Given the description of an element on the screen output the (x, y) to click on. 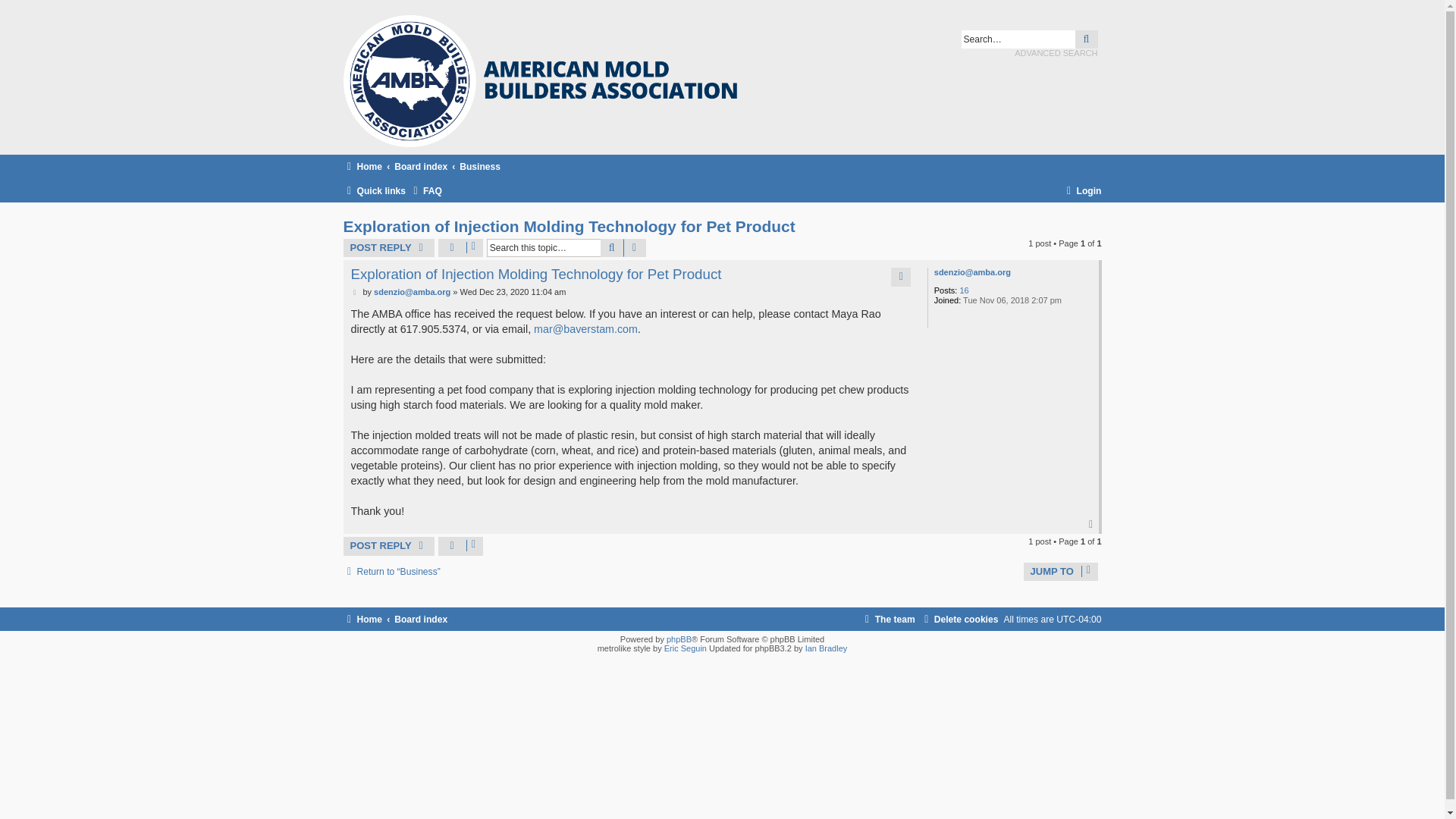
Post (354, 292)
Reply with quote (901, 276)
Quick links (374, 190)
QUOTE (901, 276)
Home (361, 167)
Login (1082, 190)
Login (1082, 190)
POST REPLY (387, 546)
Advanced search (634, 248)
Post a reply (387, 248)
Board index (420, 619)
Search (1086, 39)
Home (361, 619)
SEARCH (611, 248)
16 (963, 290)
